Given the description of an element on the screen output the (x, y) to click on. 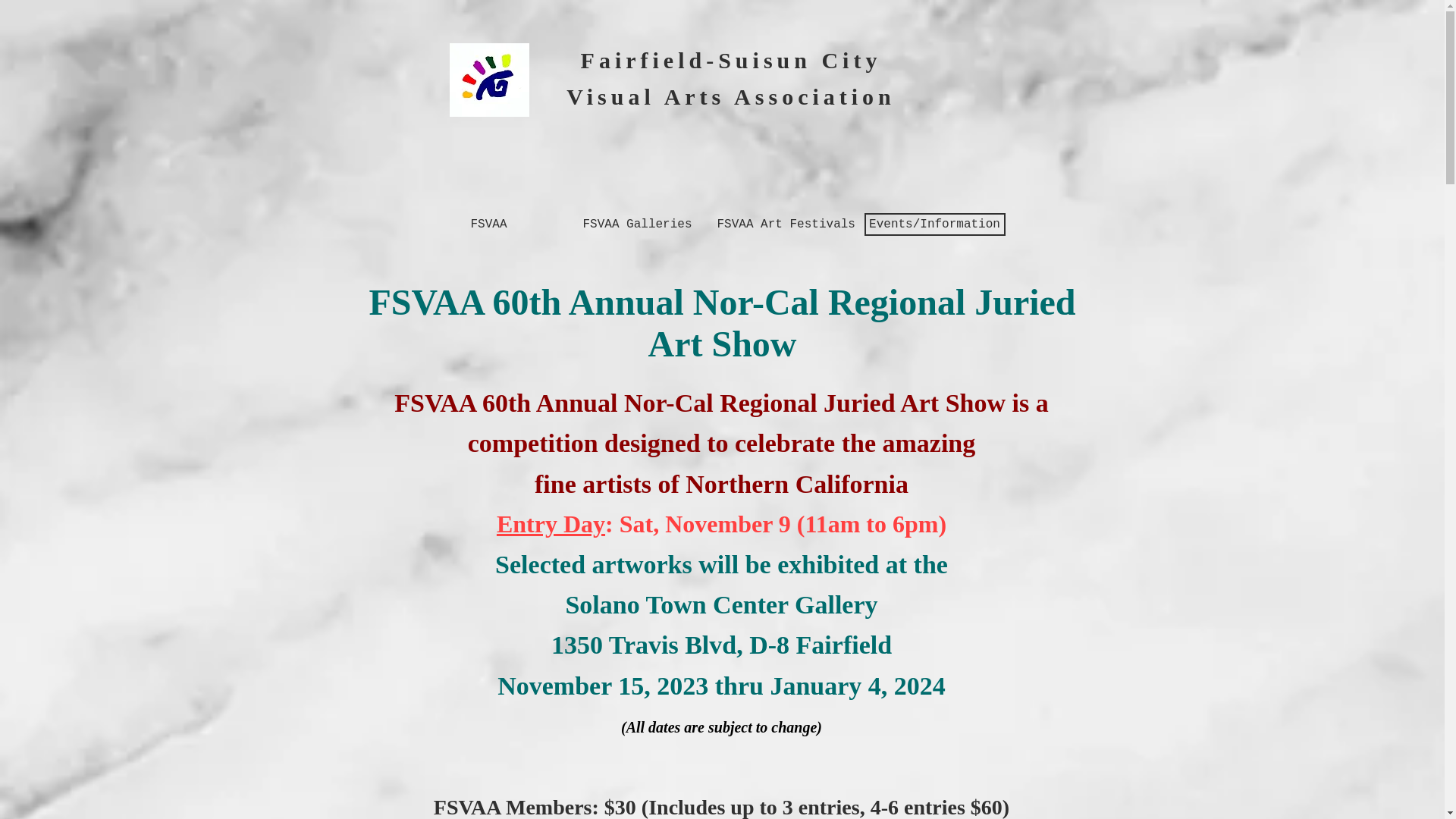
FSVAA Galleries (637, 223)
FSVAA (489, 223)
transparent-color large.jpg (488, 79)
Visual Arts Association (730, 96)
FSVAA Art Festivals (786, 223)
